Given the description of an element on the screen output the (x, y) to click on. 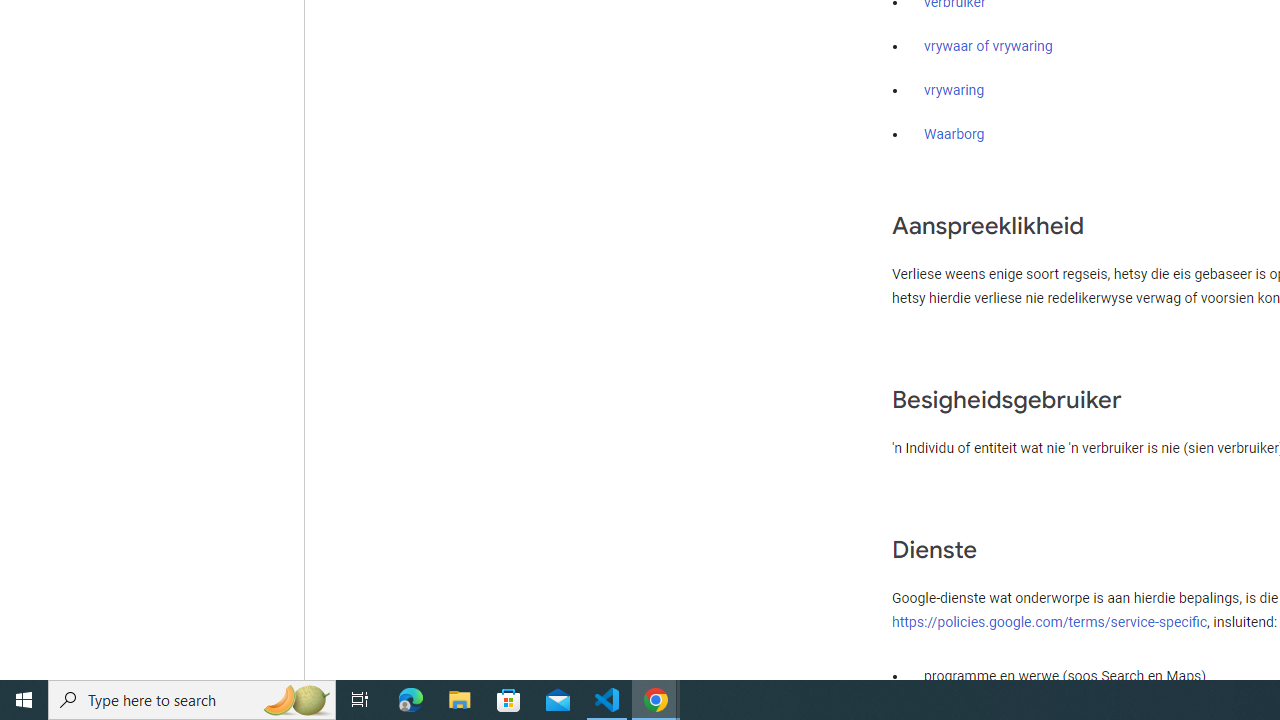
https://policies.google.com/terms/service-specific (1050, 621)
Waarborg (954, 134)
vrywaring (954, 91)
vrywaar of vrywaring (988, 47)
